Given the description of an element on the screen output the (x, y) to click on. 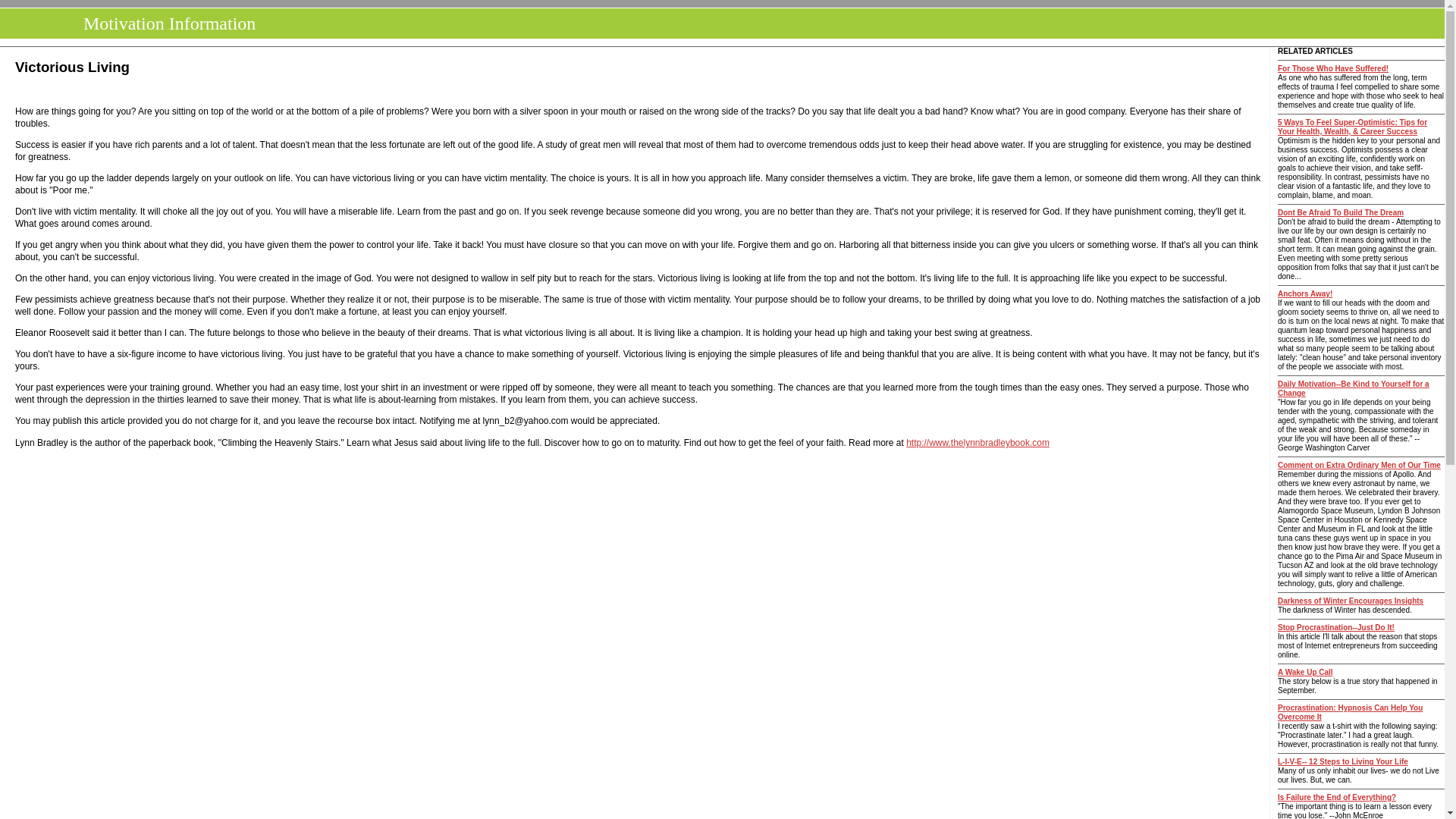
Darkness of Winter Encourages Insights (1350, 601)
Procrastination: Hypnosis Can Help You Overcome It (1350, 712)
L-I-V-E-- 12 Steps to Living Your Life (1342, 761)
Stop Procrastination--Just Do It! (1336, 627)
For Those Who Have Suffered! (1333, 68)
Motivation Information (165, 23)
Comment on Extra Ordinary Men of Our Time (1359, 465)
Dont Be Afraid To Build The Dream (1340, 212)
Is Failure the End of Everything? (1337, 797)
A Wake Up Call (1305, 672)
Anchors Away! (1305, 293)
Daily Motivation--Be Kind to Yourself for a Change (1353, 388)
